Given the description of an element on the screen output the (x, y) to click on. 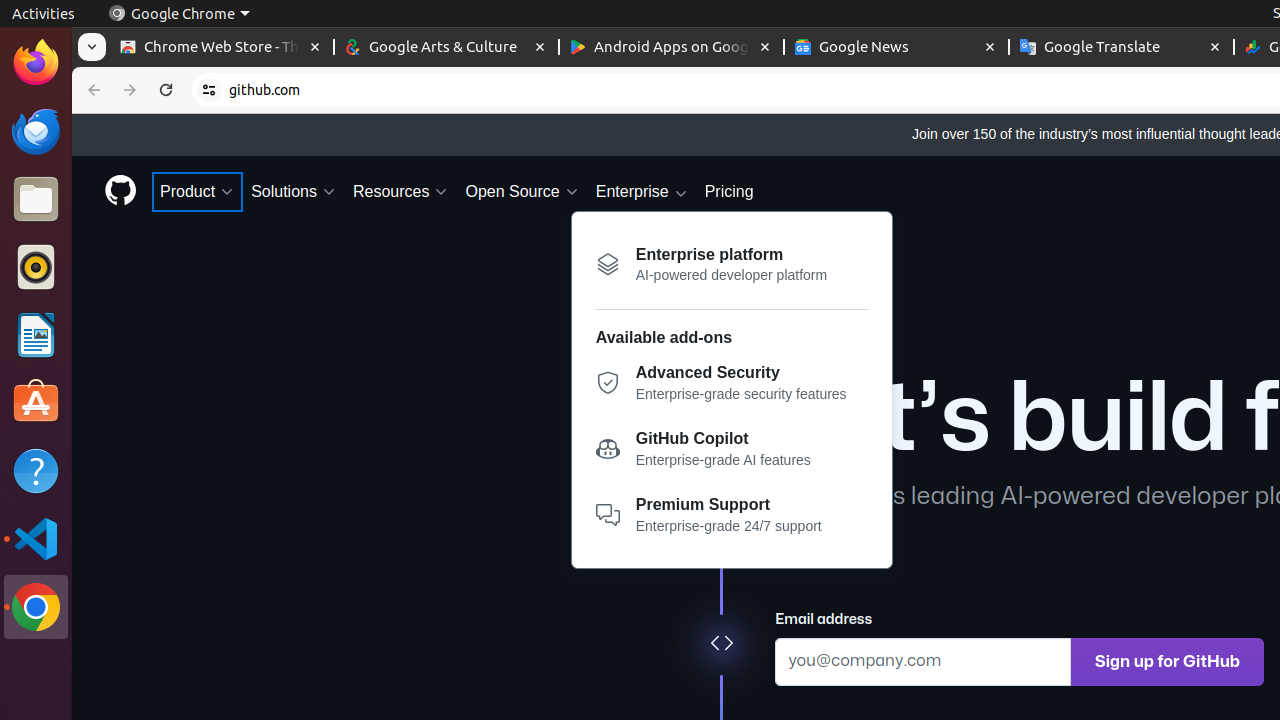
Google Chrome Element type: push-button (36, 607)
GitHub Copilot Enterprise-grade AI features Element type: link (731, 453)
Back Element type: push-button (91, 90)
Visual Studio Code Element type: push-button (36, 538)
Pricing Element type: link (729, 191)
